Given the description of an element on the screen output the (x, y) to click on. 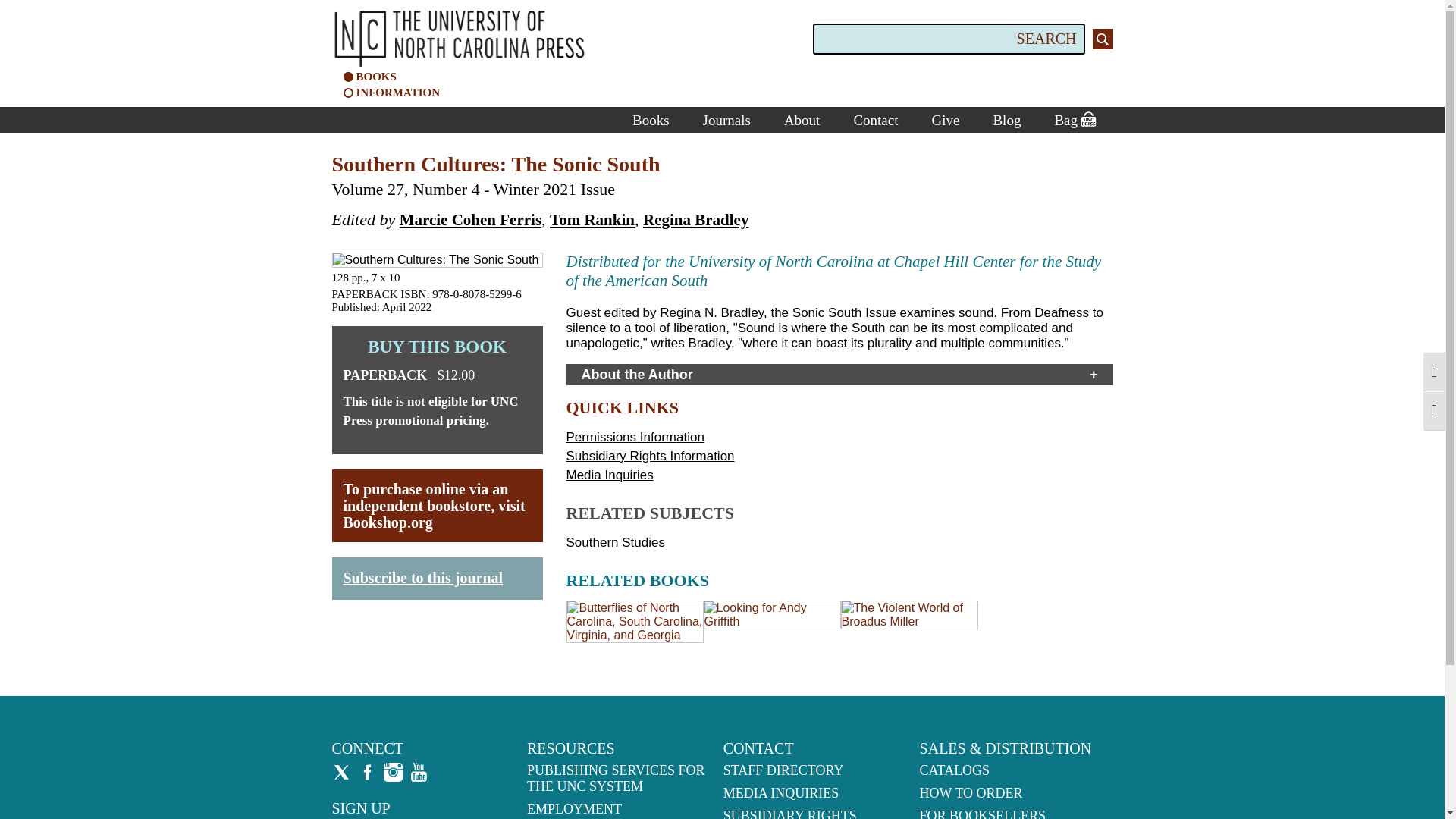
SEARCH: (948, 38)
Subsidiary Rights Information (649, 455)
Regina Bradley (695, 219)
The Violent World of Broadus Miller (908, 621)
Media Inquiries (609, 474)
Permissions Information (634, 436)
Subsidiary Rights Information (649, 455)
Subscribe to this journal (422, 576)
Journals (726, 120)
Paperback (436, 374)
Give (944, 120)
Subscribe to this journal (422, 576)
Marcie Cohen Ferris (469, 219)
